Given the description of an element on the screen output the (x, y) to click on. 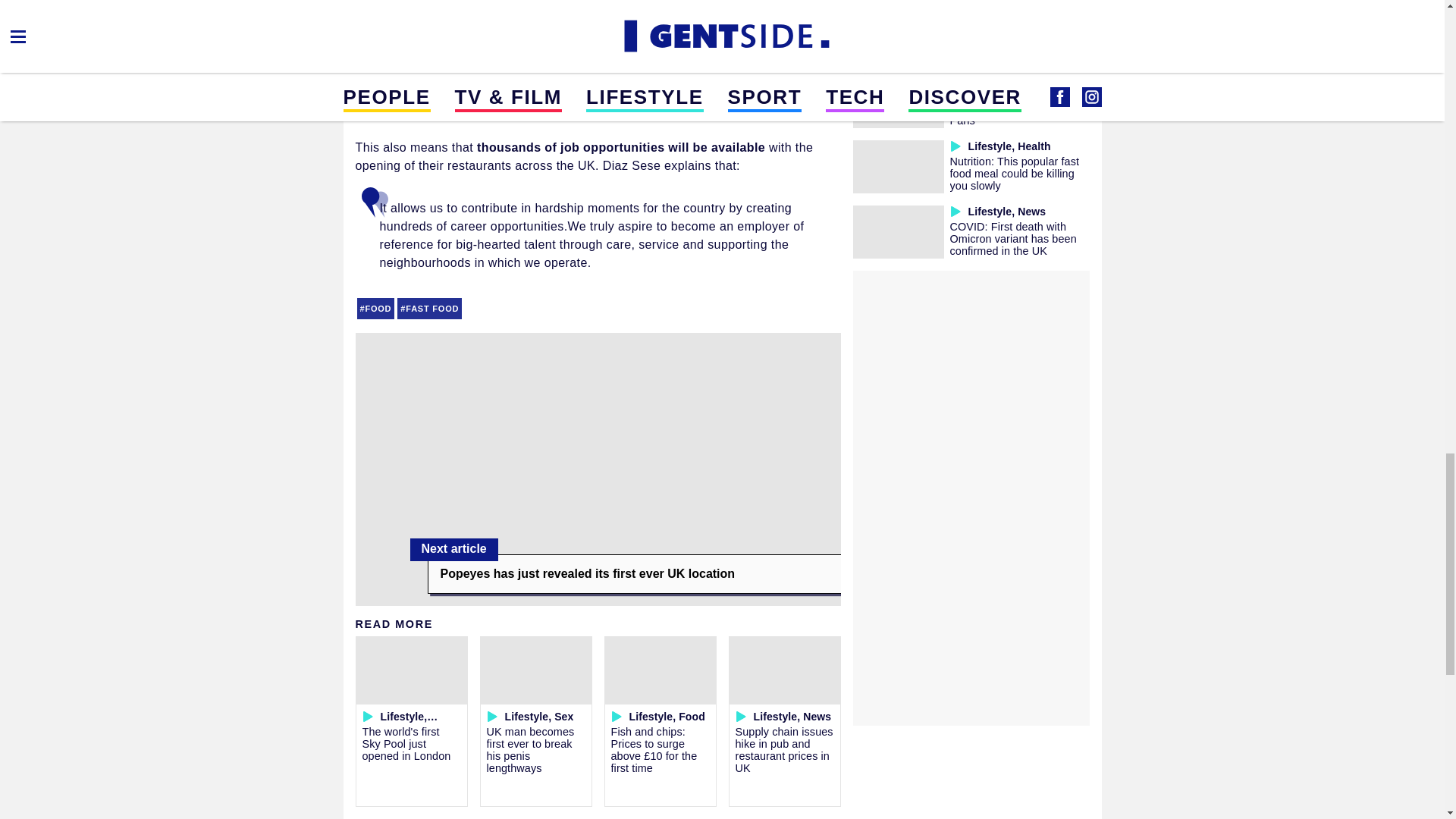
Popeyes has just revealed its first ever UK location (634, 573)
UK man becomes first ever to break his penis lengthways (530, 749)
FOOD (375, 308)
FAST FOOD (429, 308)
The world's first Sky Pool just opened in London (406, 743)
Supply chain issues hike in pub and restaurant prices in UK (783, 749)
